Given the description of an element on the screen output the (x, y) to click on. 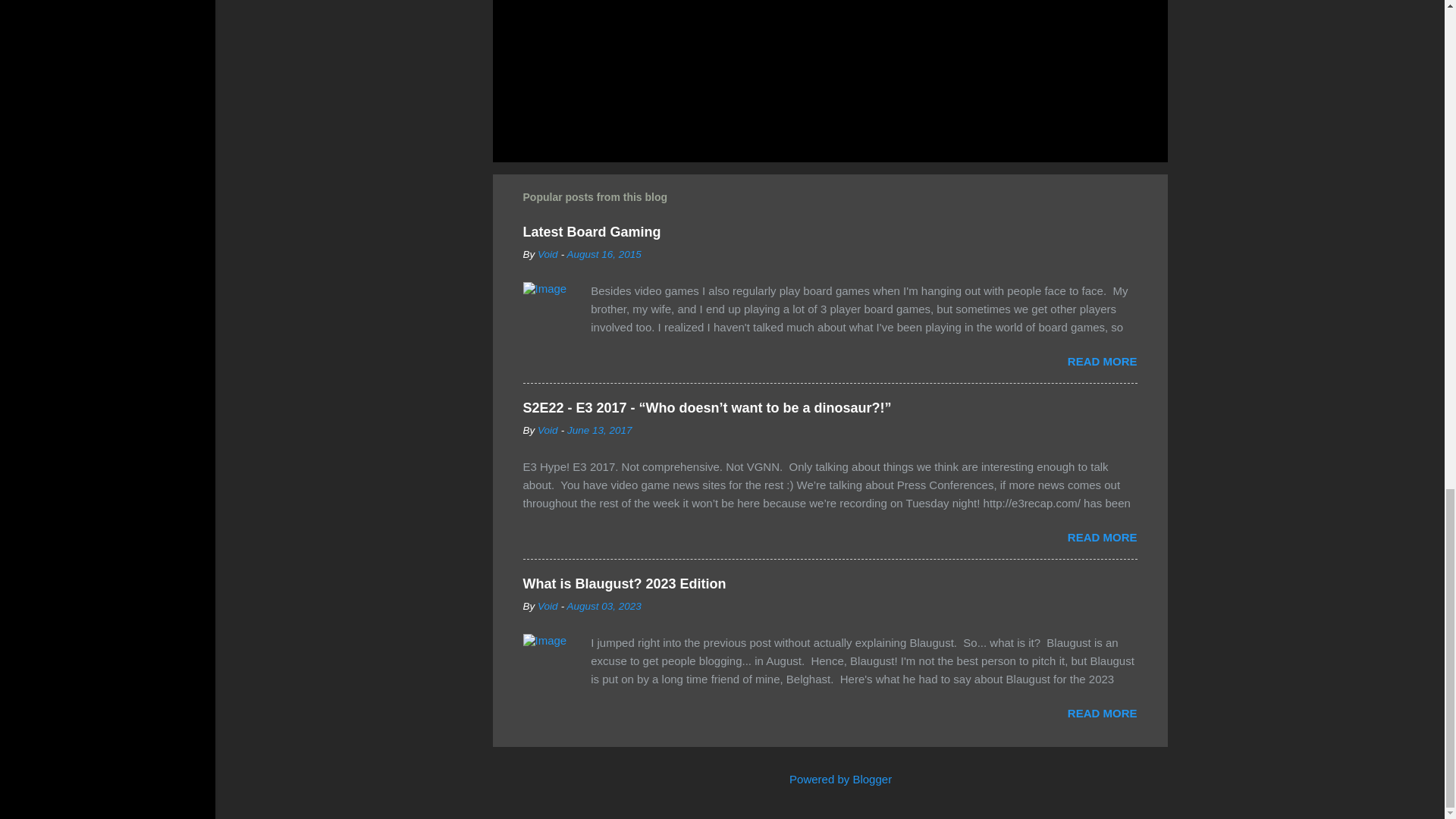
Latest Board Gaming (591, 231)
August 16, 2015 (603, 254)
READ MORE (1102, 360)
author profile (547, 254)
Void (547, 254)
